Given the description of an element on the screen output the (x, y) to click on. 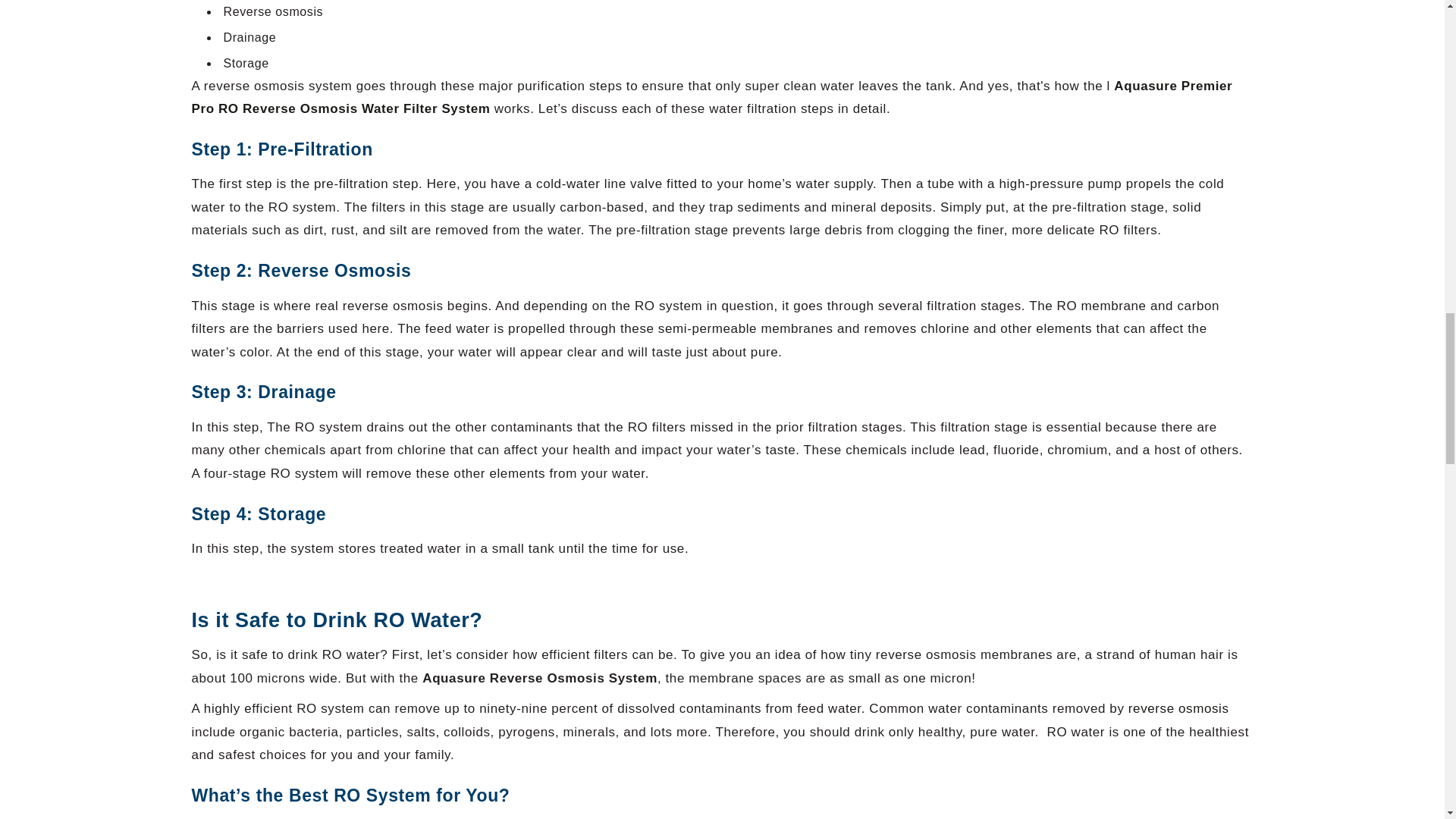
Aquasure usa reverse osmosis water filter  (710, 97)
cdc reverse osmosis (1178, 709)
